Given the description of an element on the screen output the (x, y) to click on. 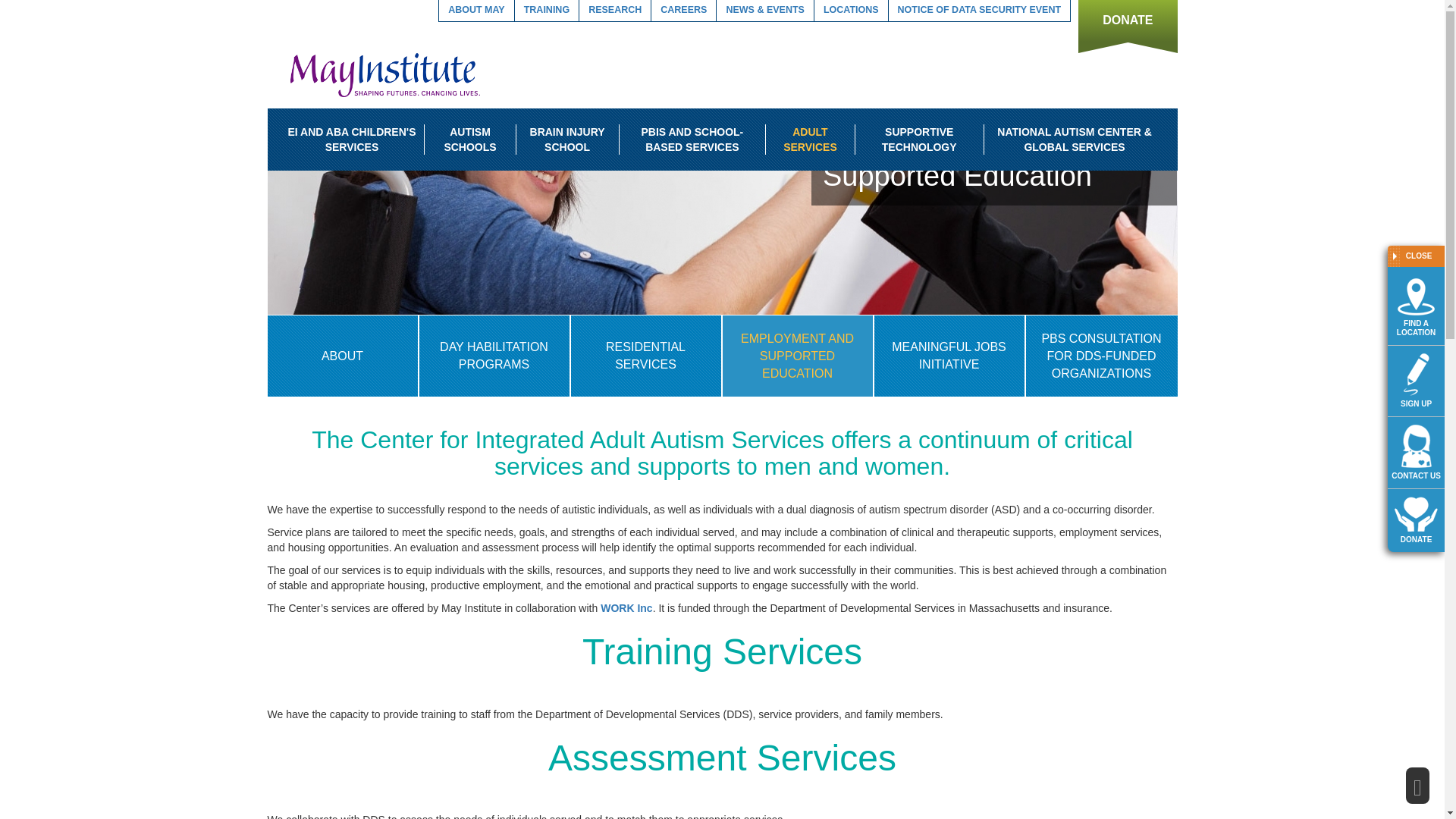
ABOUT MAY (476, 9)
RESEARCH (614, 9)
CAREERS (683, 9)
TRAINING (546, 9)
